Given the description of an element on the screen output the (x, y) to click on. 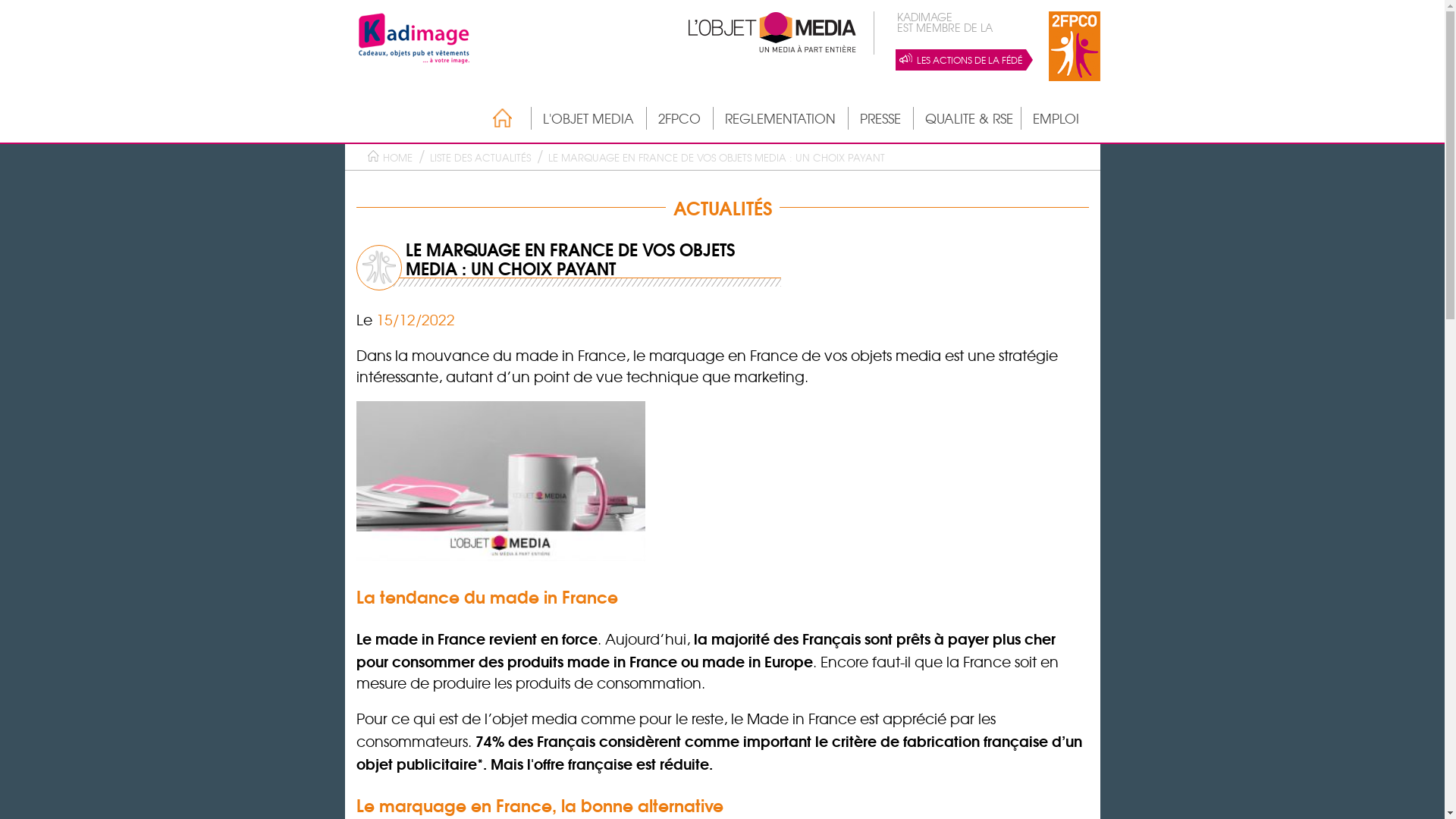
Accueil Element type: hover (494, 117)
HOME Element type: text (396, 157)
